Given the description of an element on the screen output the (x, y) to click on. 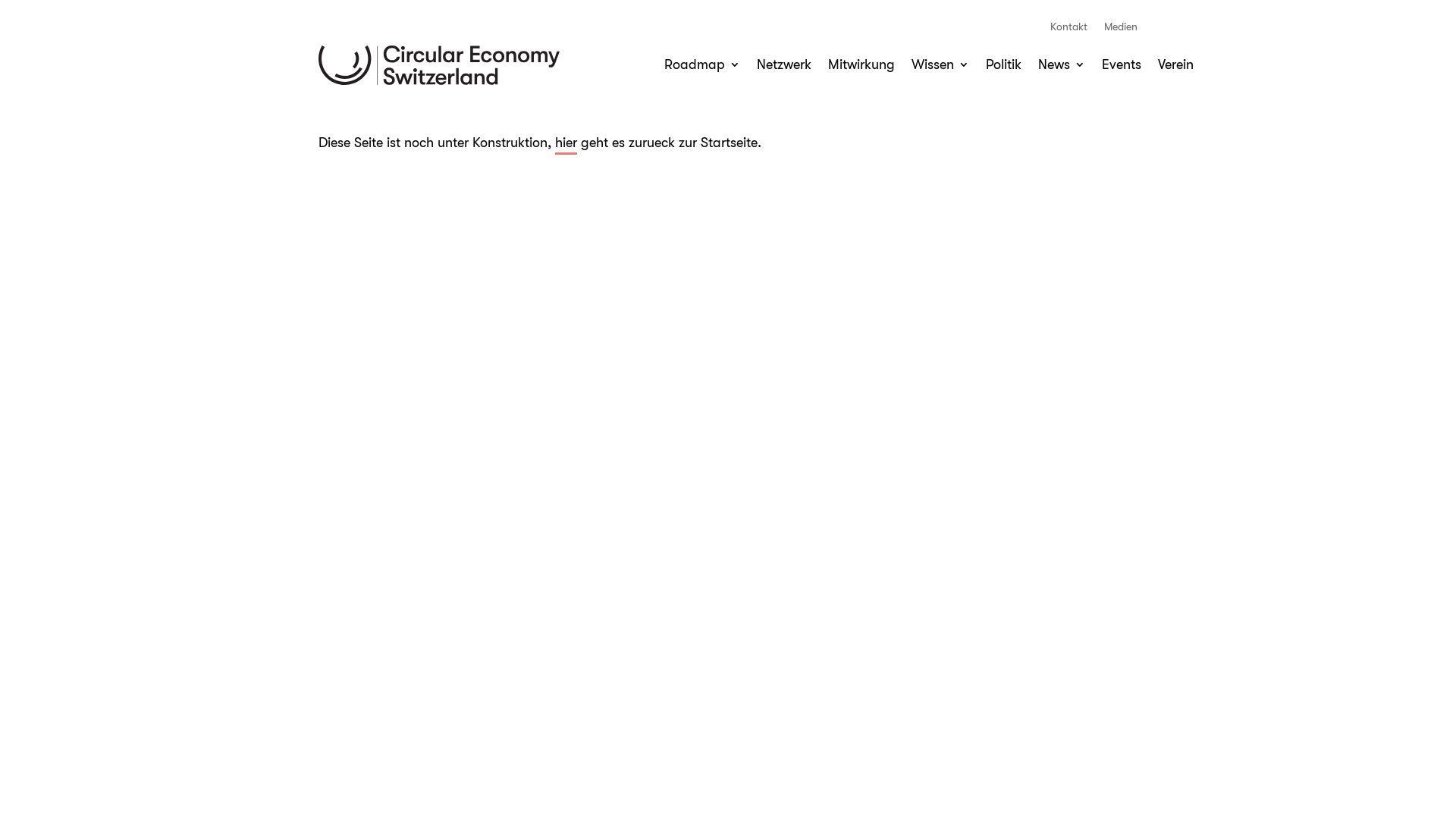
Events Element type: text (1121, 67)
hier Element type: text (566, 144)
CES_logo-full-black_compressed Element type: hover (438, 64)
Netzwerk Element type: text (783, 67)
Wissen Element type: text (940, 67)
Mitwirkung Element type: text (861, 67)
Politik Element type: text (1003, 67)
Kontakt Element type: text (1068, 29)
Verein Element type: text (1175, 67)
Medien Element type: text (1120, 29)
News Element type: text (1061, 67)
Roadmap Element type: text (702, 67)
